Given the description of an element on the screen output the (x, y) to click on. 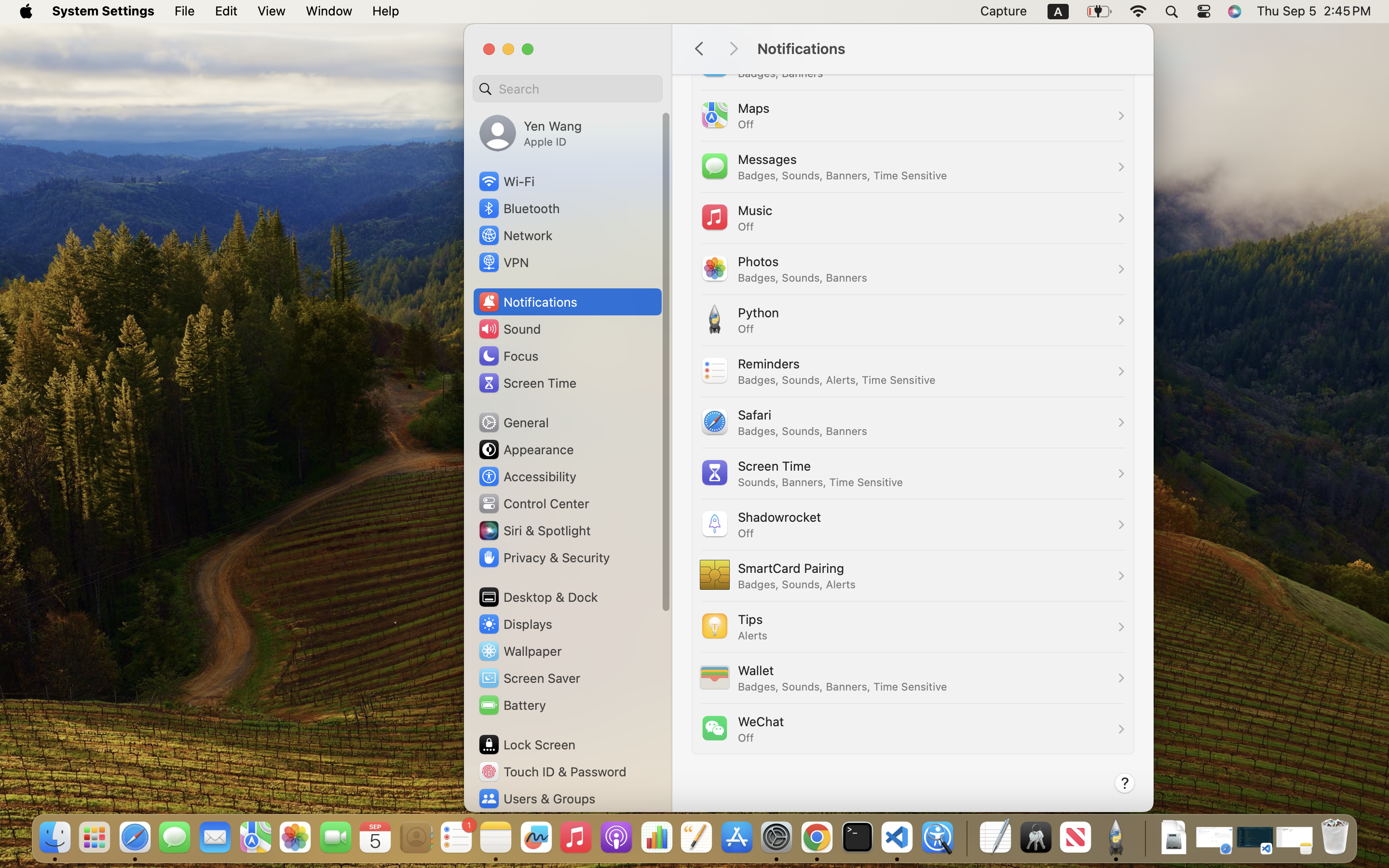
Privacy & Security Element type: AXStaticText (543, 557)
VPN Element type: AXStaticText (502, 261)
General Element type: AXStaticText (512, 422)
Battery Element type: AXStaticText (511, 704)
Screen Time Element type: AXStaticText (526, 382)
